Given the description of an element on the screen output the (x, y) to click on. 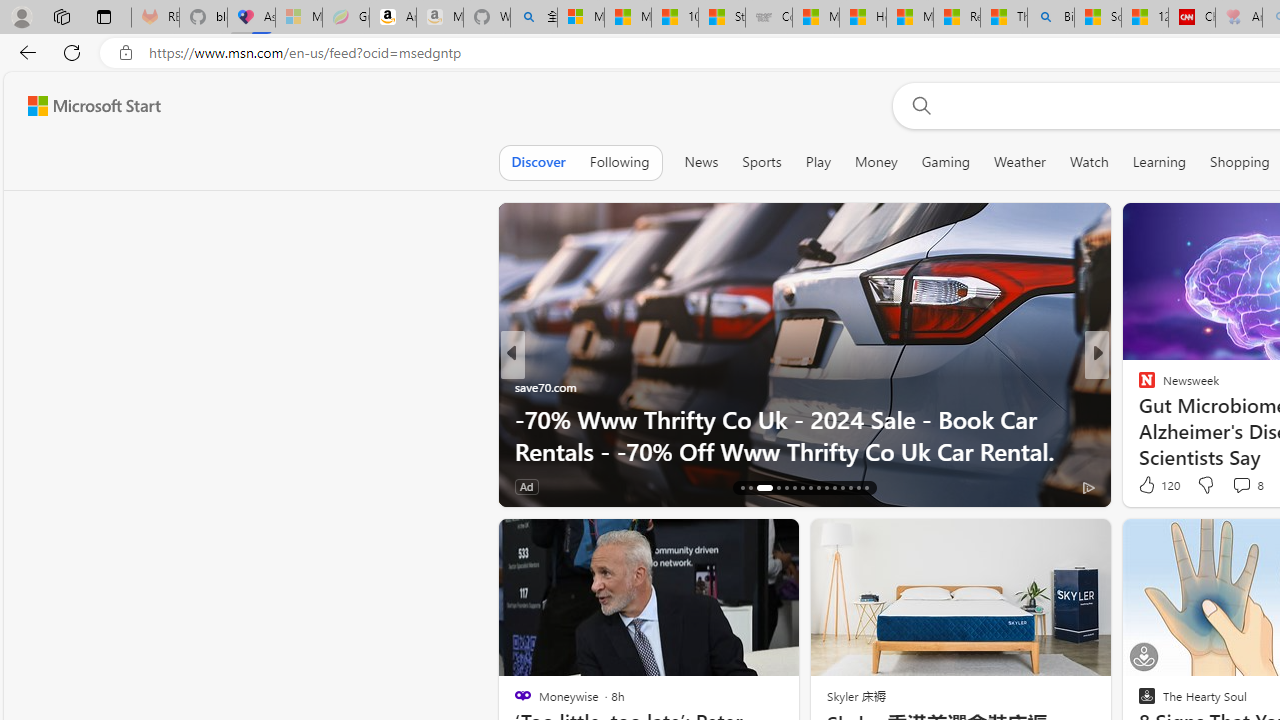
View comments 74 Comment (1244, 486)
Shopping (1240, 161)
AutomationID: tab-16 (742, 487)
The Gracious Pantry (1138, 386)
Arthritis: Ask Health Professionals - Sleeping (1239, 17)
AutomationID: tab-25 (825, 487)
View comments 48 Comment (1234, 485)
View comments 7 Comment (1241, 486)
AutomationID: tab-18 (759, 487)
AutomationID: tab-26 (833, 487)
